Given the description of an element on the screen output the (x, y) to click on. 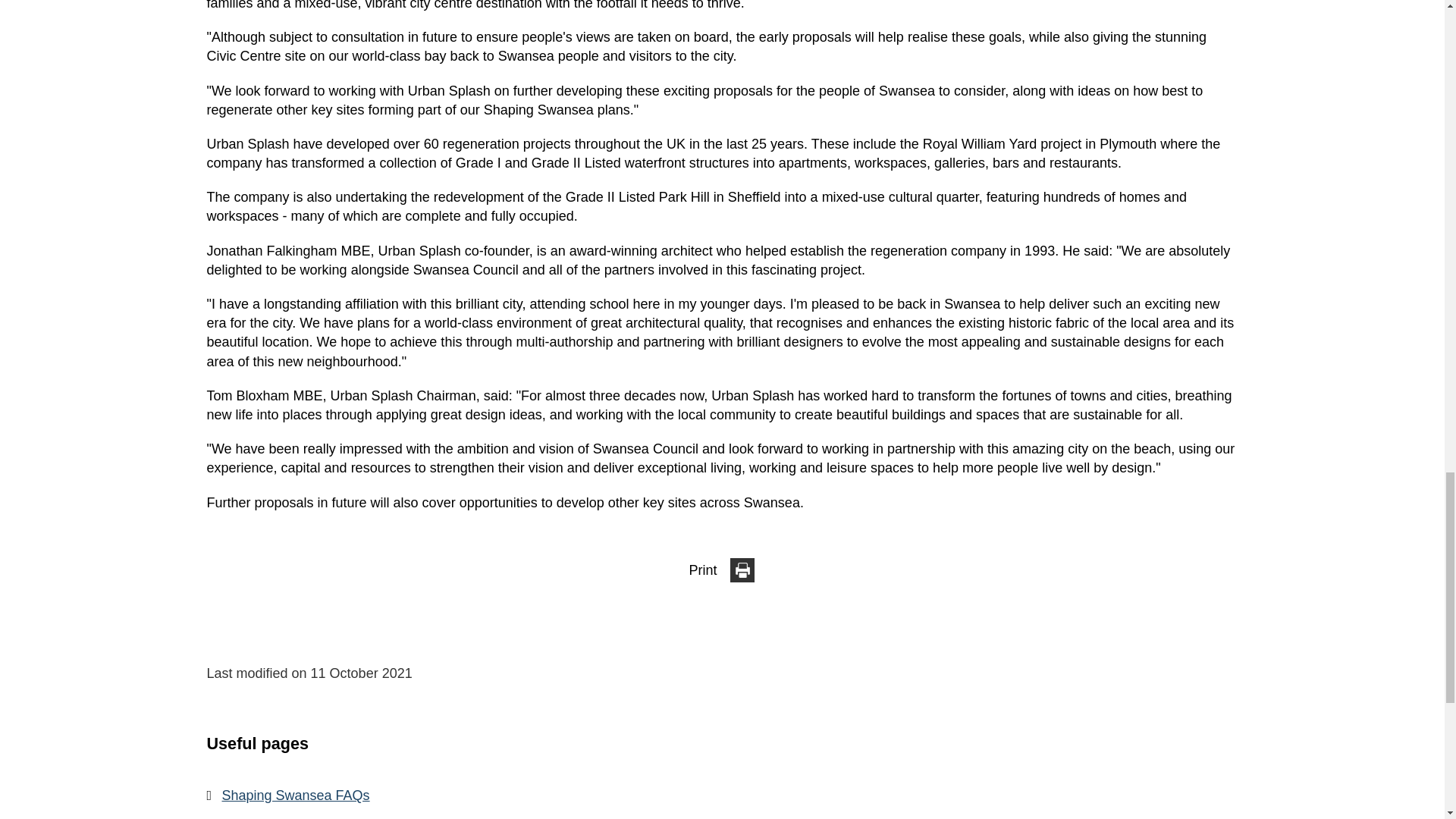
Shaping Swansea FAQs (723, 795)
